Given the description of an element on the screen output the (x, y) to click on. 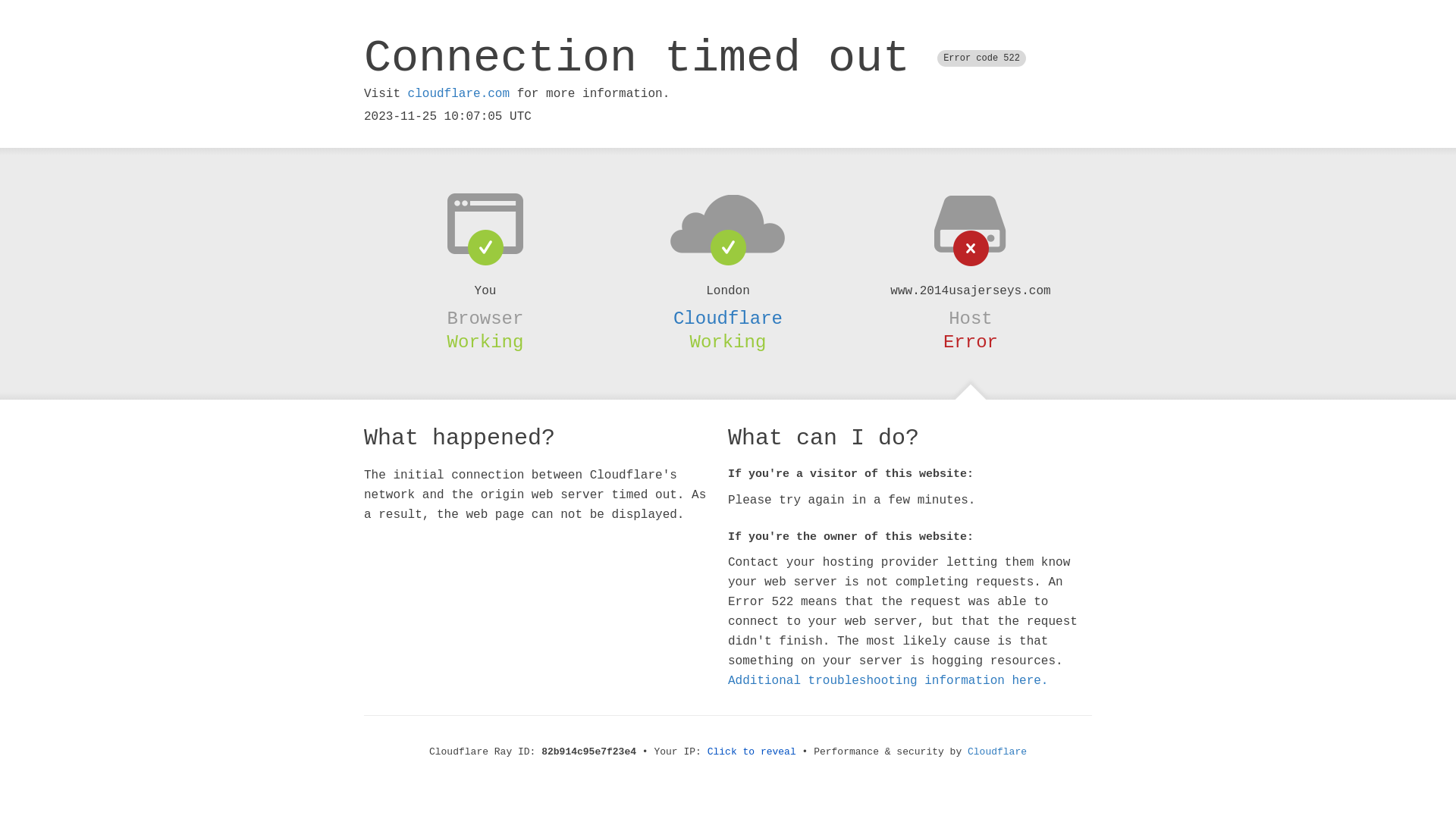
Cloudflare Element type: text (727, 318)
Cloudflare Element type: text (996, 751)
Click to reveal Element type: text (751, 751)
Additional troubleshooting information here. Element type: text (888, 680)
cloudflare.com Element type: text (458, 93)
